Given the description of an element on the screen output the (x, y) to click on. 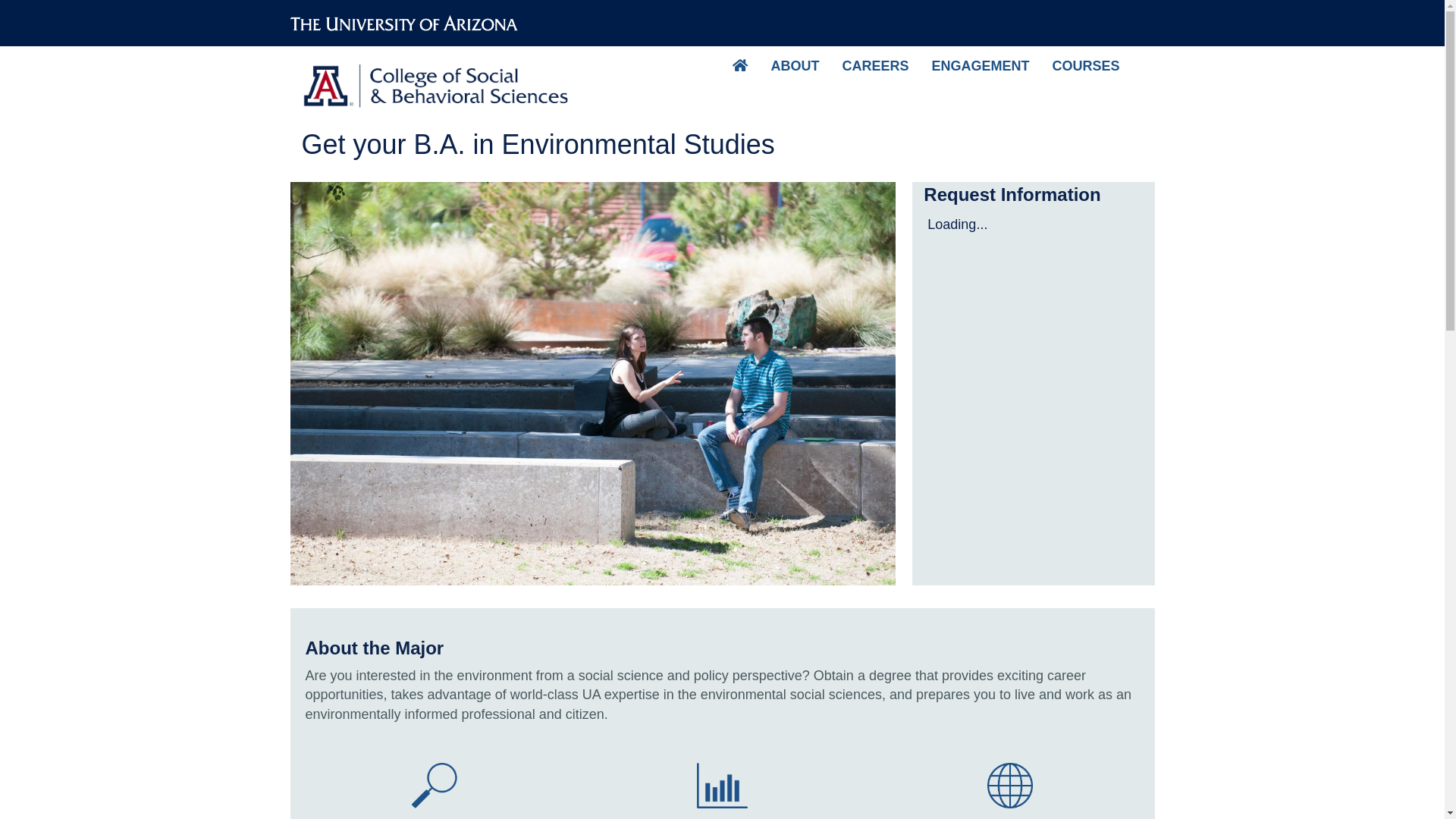
COURSES (1086, 65)
Home (439, 80)
ABOUT (793, 65)
ENGAGEMENT (980, 65)
CAREERS (874, 65)
